Given the description of an element on the screen output the (x, y) to click on. 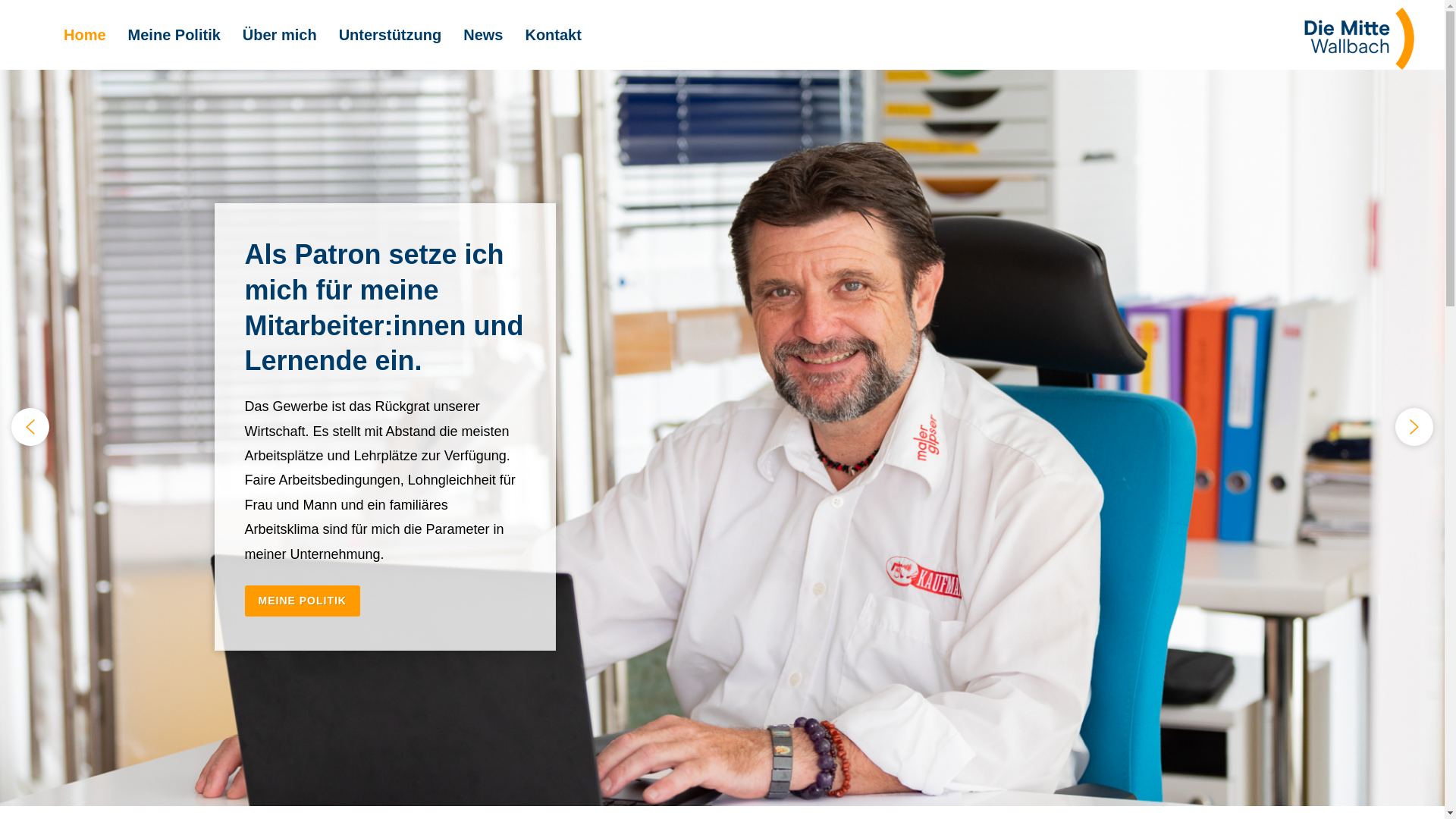
Kontakt Element type: text (552, 34)
Home Element type: text (84, 34)
Logo_RGB_Die_Mitte_Wallbach_120angepasst Element type: hover (1358, 38)
MEINE POLITIK Element type: text (301, 600)
Meine Politik Element type: text (174, 34)
News Element type: text (482, 34)
